Given the description of an element on the screen output the (x, y) to click on. 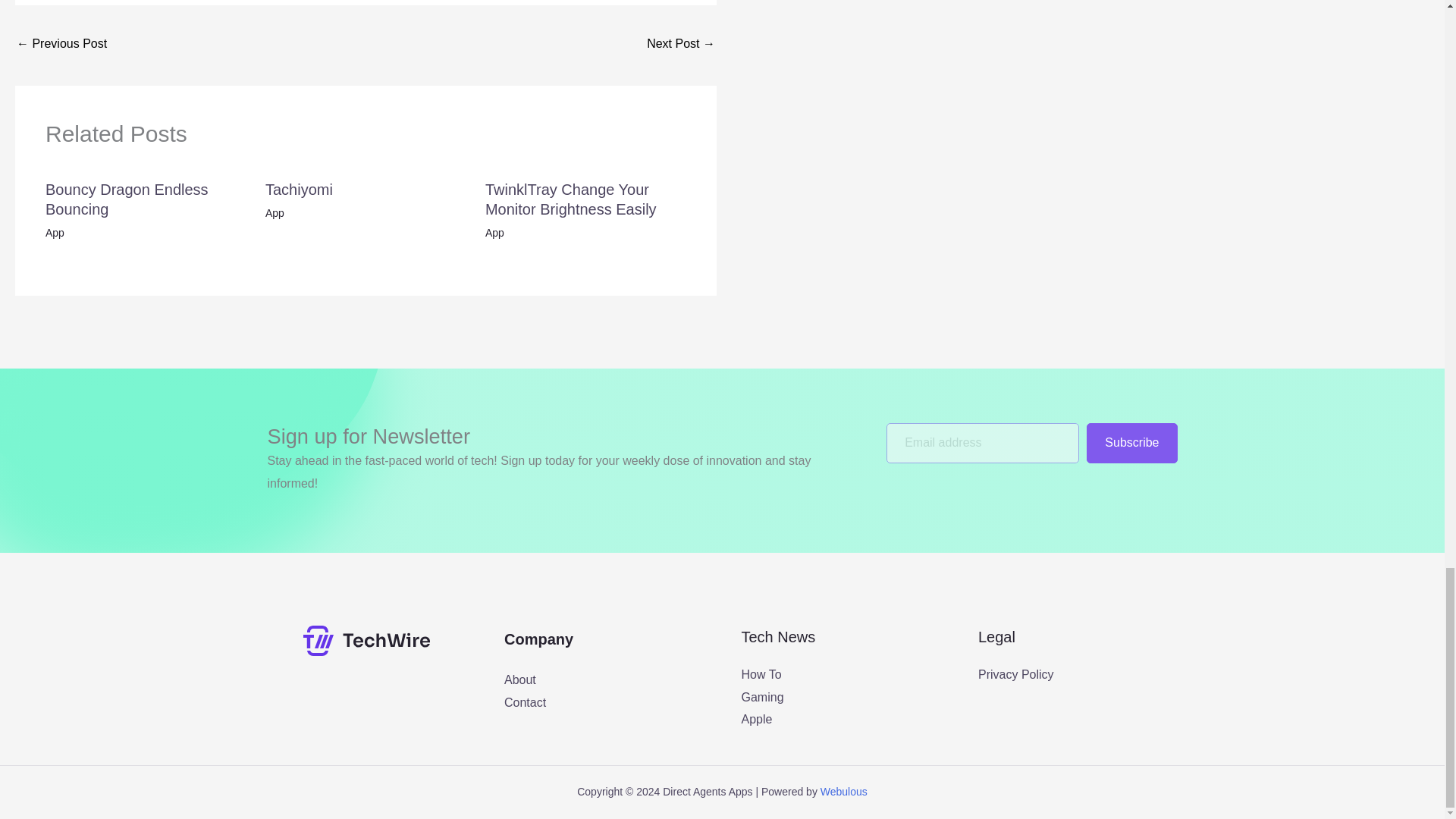
How to Win Fortnite (680, 44)
Please fill in this field. (982, 443)
How To (761, 674)
Subscribe (1131, 443)
Contact (524, 702)
Games Like Civilization VI (61, 44)
Privacy Policy (1016, 674)
App (493, 232)
Gaming (762, 697)
Tachiyomi (298, 189)
TwinklTray Change Your Monitor Brightness Easily (570, 198)
App (273, 213)
Webulous (844, 791)
About (519, 680)
App (54, 232)
